Given the description of an element on the screen output the (x, y) to click on. 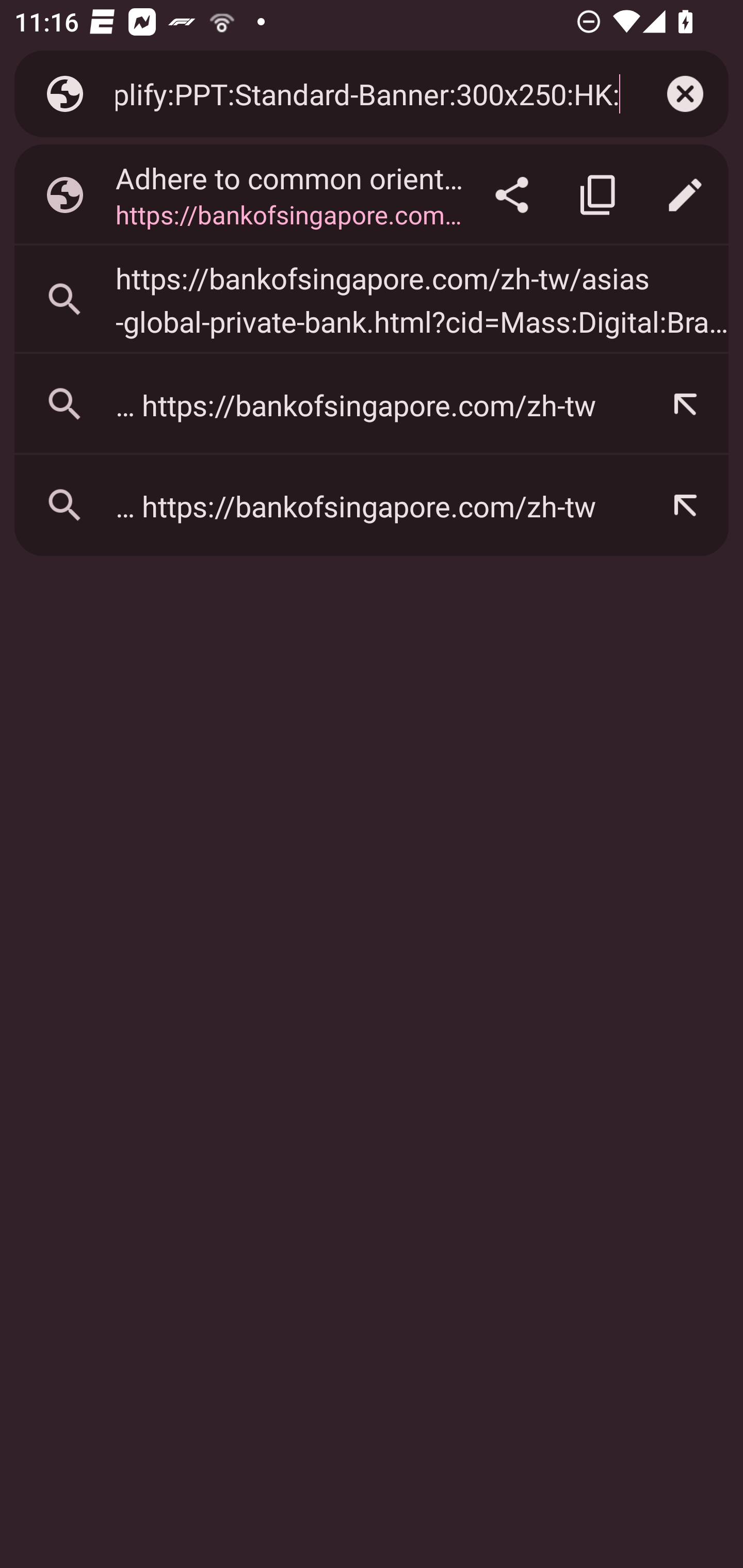
Clear input (684, 93)
Share… (511, 195)
Copy link (598, 195)
Edit (684, 195)
